Given the description of an element on the screen output the (x, y) to click on. 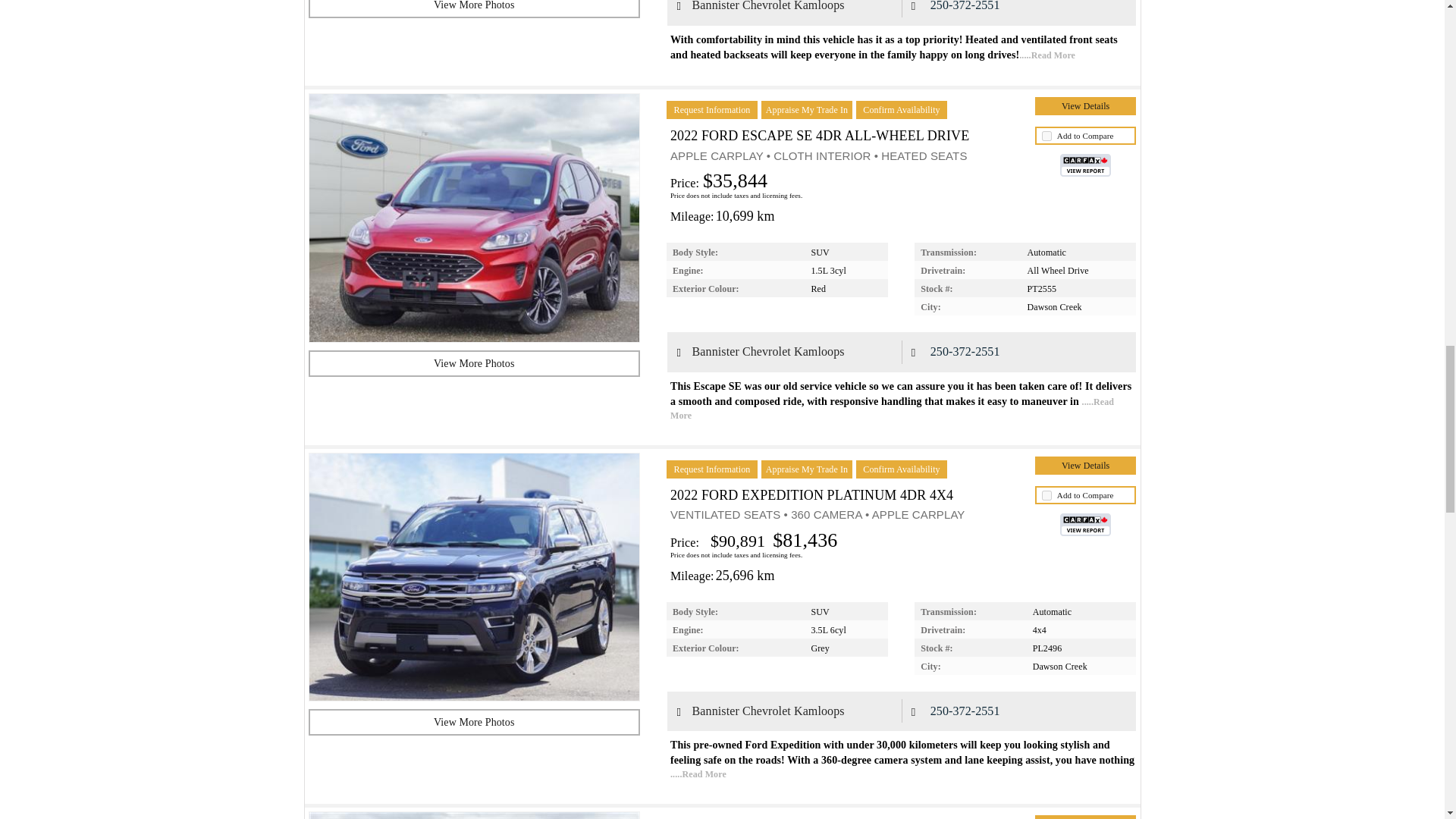
unchecked (1046, 495)
unchecked (1046, 135)
